Given the description of an element on the screen output the (x, y) to click on. 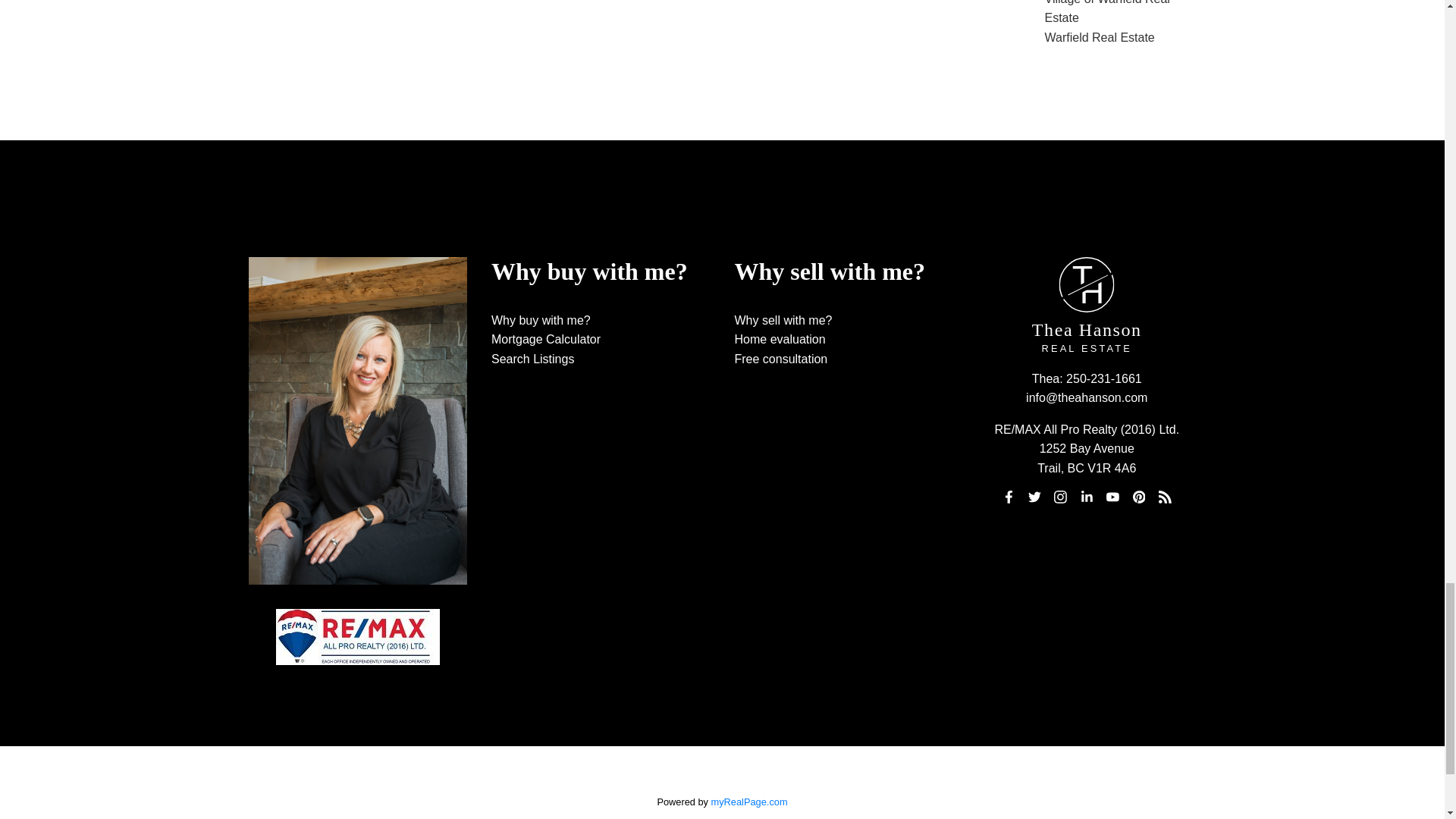
Twitter (1034, 496)
instagram (1060, 496)
Facebook (1008, 496)
YouTube (1113, 496)
linkedin (1086, 496)
Pinterest (1139, 496)
Blog (1164, 496)
